Given the description of an element on the screen output the (x, y) to click on. 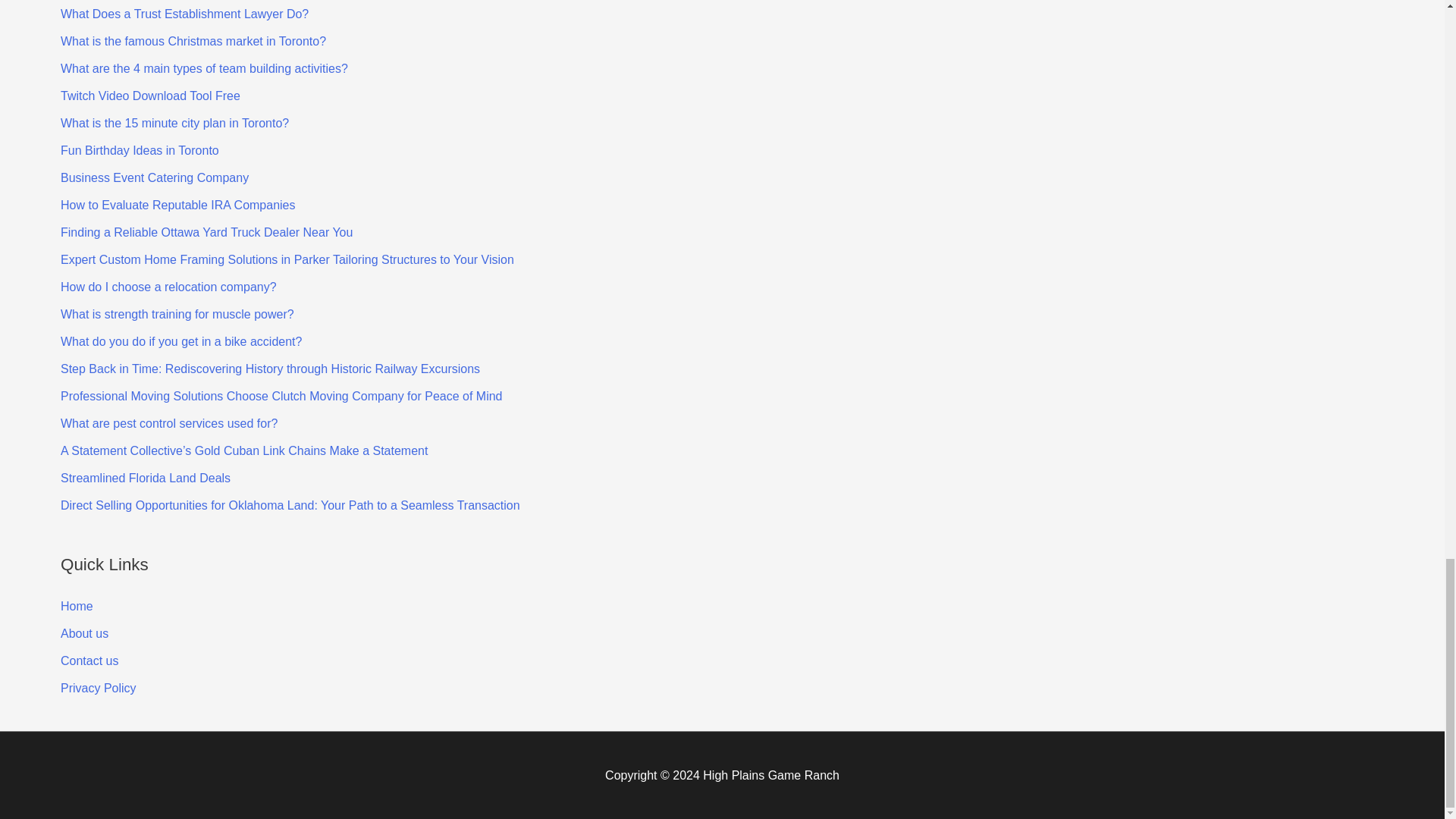
What is the 15 minute city plan in Toronto? (174, 123)
What are the 4 main types of team building activities? (204, 68)
What Does a Trust Establishment Lawyer Do? (184, 13)
Privacy Policy (98, 687)
What are pest control services used for? (169, 422)
Contact us (89, 660)
What is the famous Christmas market in Toronto? (193, 41)
